Given the description of an element on the screen output the (x, y) to click on. 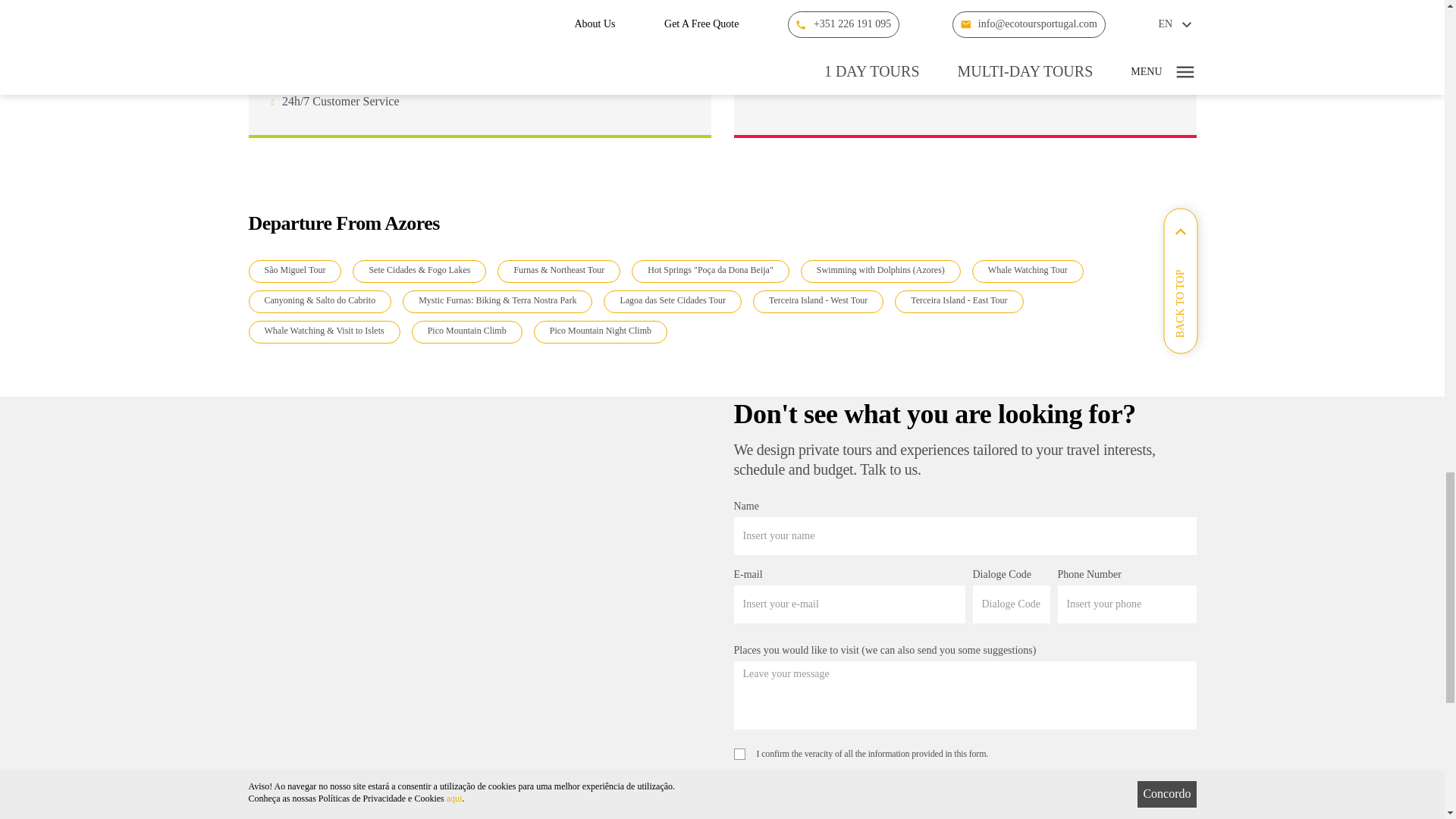
1 (739, 754)
